Given the description of an element on the screen output the (x, y) to click on. 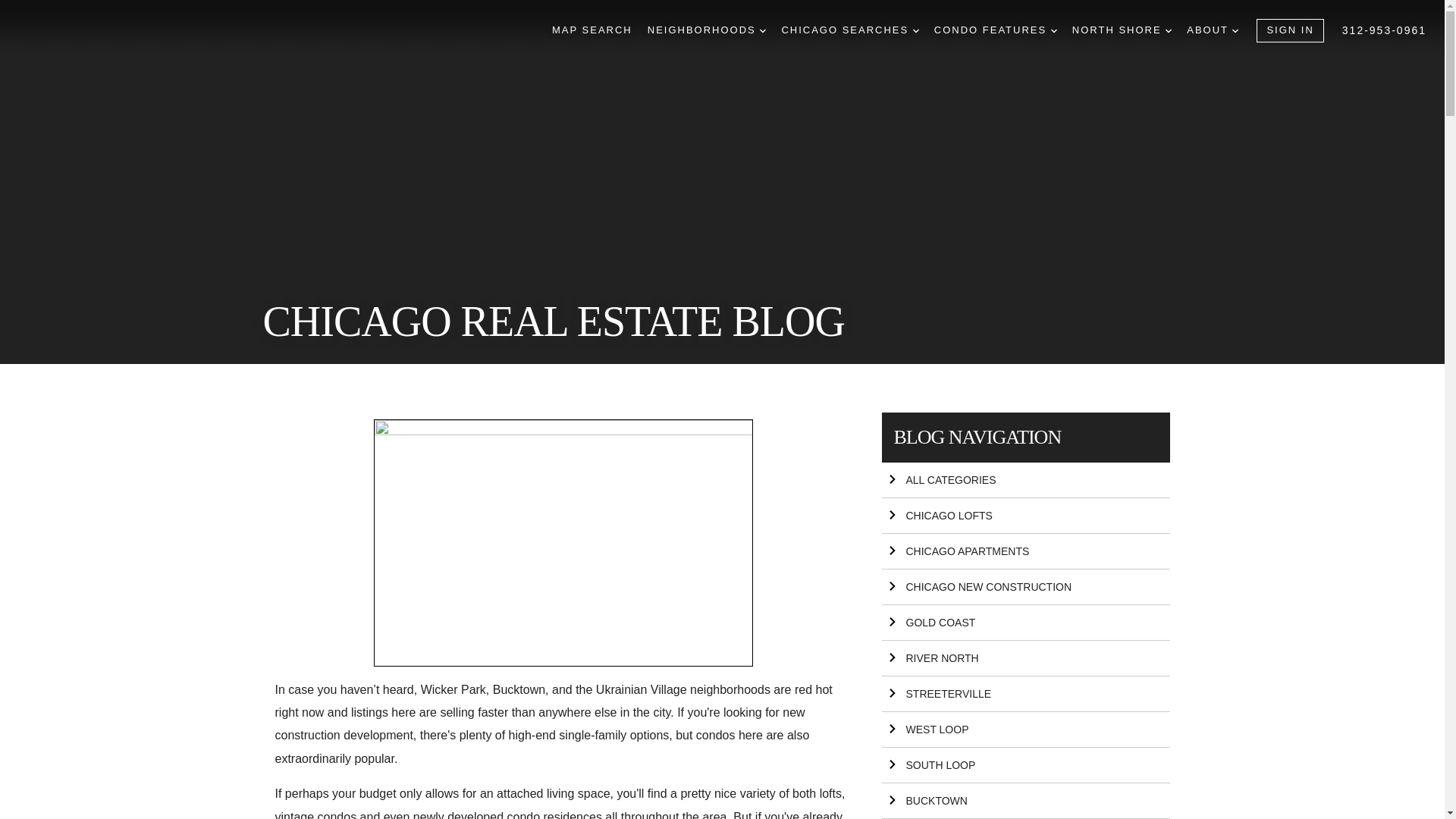
DROPDOWN ARROW (1169, 30)
CHICAGO SEARCHES DROPDOWN ARROW (849, 30)
DROPDOWN ARROW (1054, 30)
MAP SEARCH (591, 30)
NEIGHBORHOODS DROPDOWN ARROW (707, 30)
DROPDOWN ARROW (915, 30)
DROPDOWN ARROW (762, 30)
DROPDOWN ARROW (1235, 30)
